Given the description of an element on the screen output the (x, y) to click on. 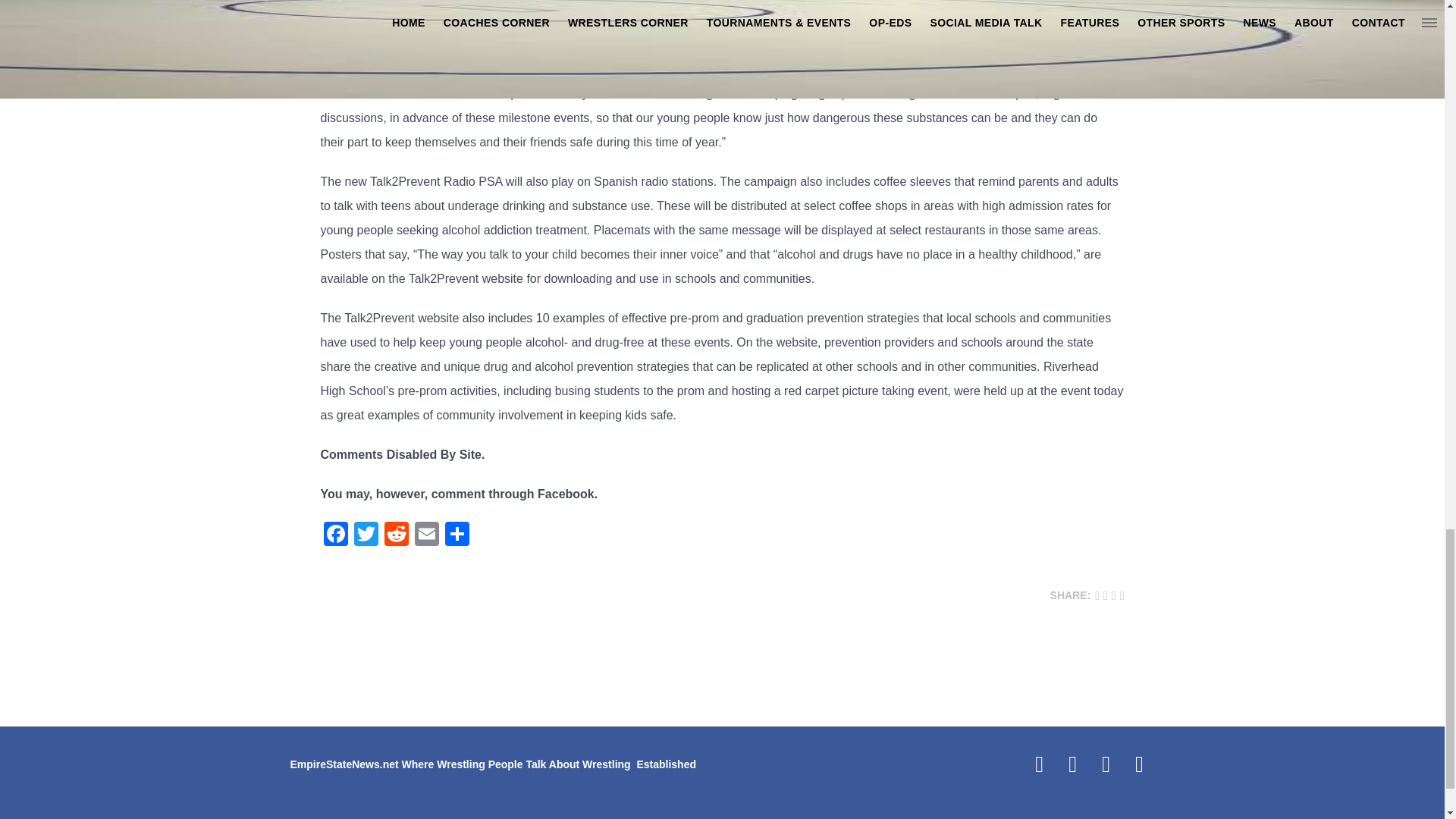
Facebook (335, 535)
Twitter (365, 535)
Email (425, 535)
Reddit (395, 535)
